Given the description of an element on the screen output the (x, y) to click on. 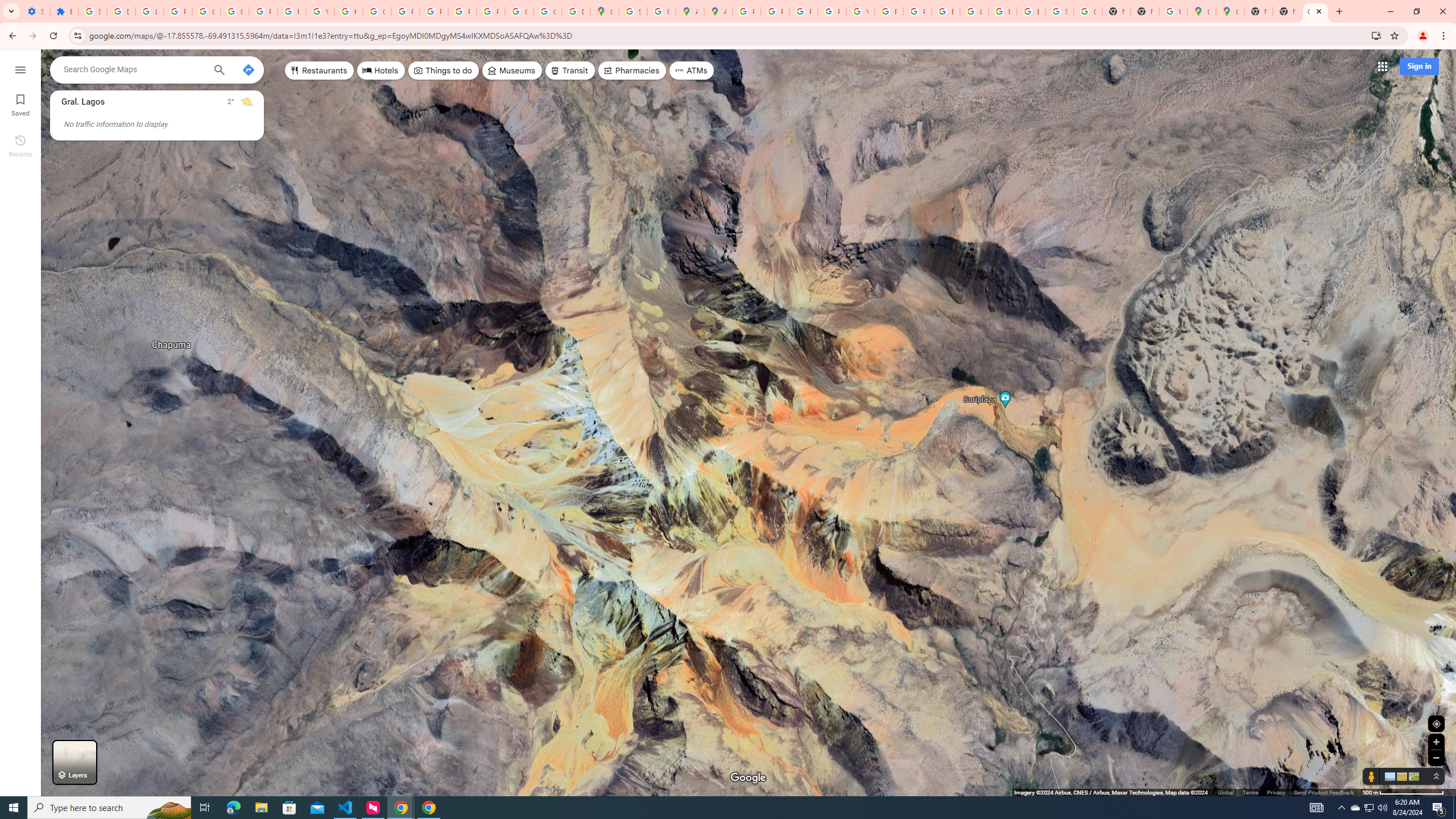
Menu (20, 68)
Extensions (63, 11)
Zoom out (1436, 757)
YouTube (320, 11)
YouTube (860, 11)
Google Account Help (206, 11)
Send Product Feedback (1324, 792)
Show Street View coverage (1371, 776)
Search (218, 70)
